Given the description of an element on the screen output the (x, y) to click on. 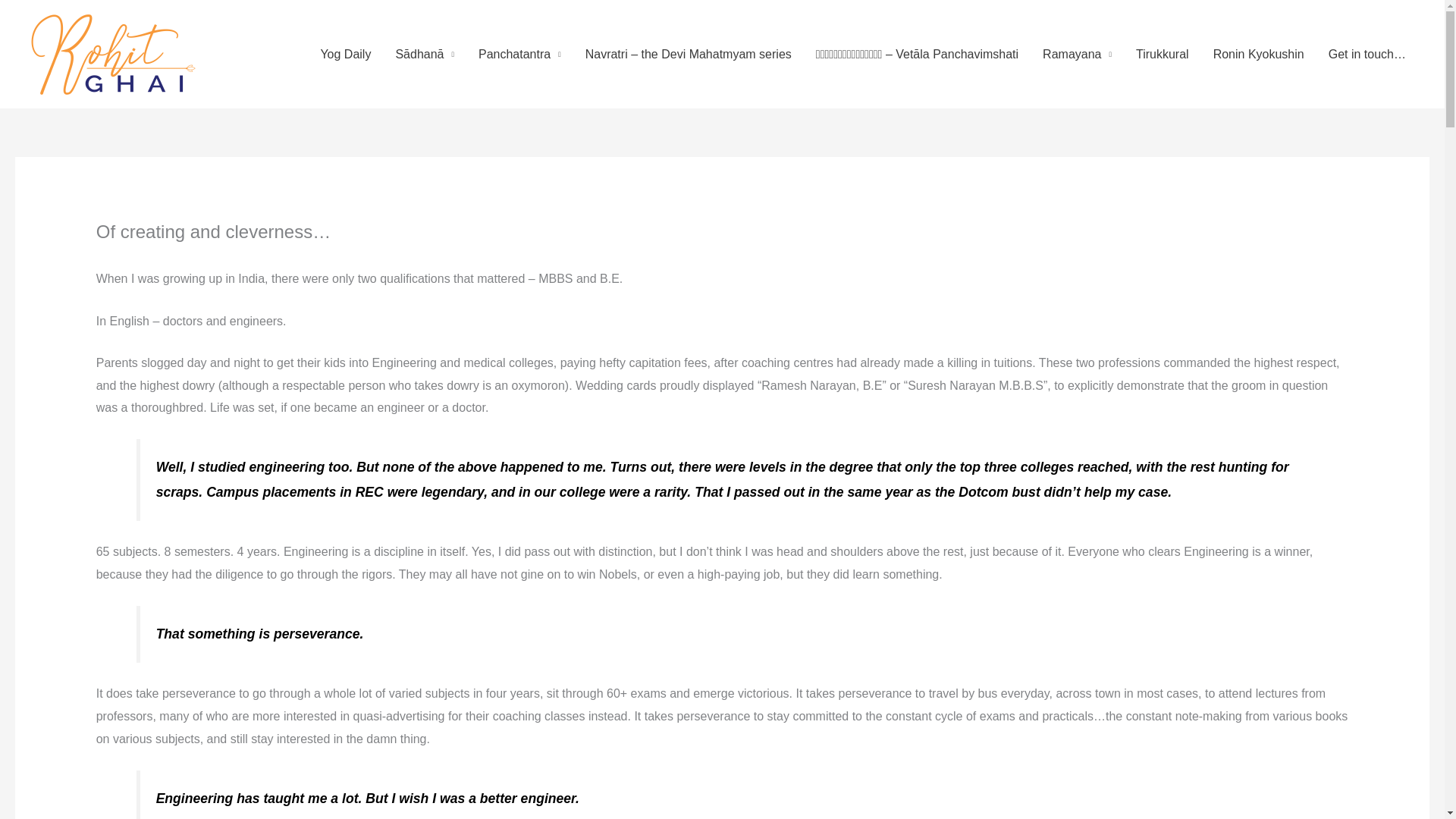
Panchatantra (519, 54)
Ronin Kyokushin (1258, 54)
